Given the description of an element on the screen output the (x, y) to click on. 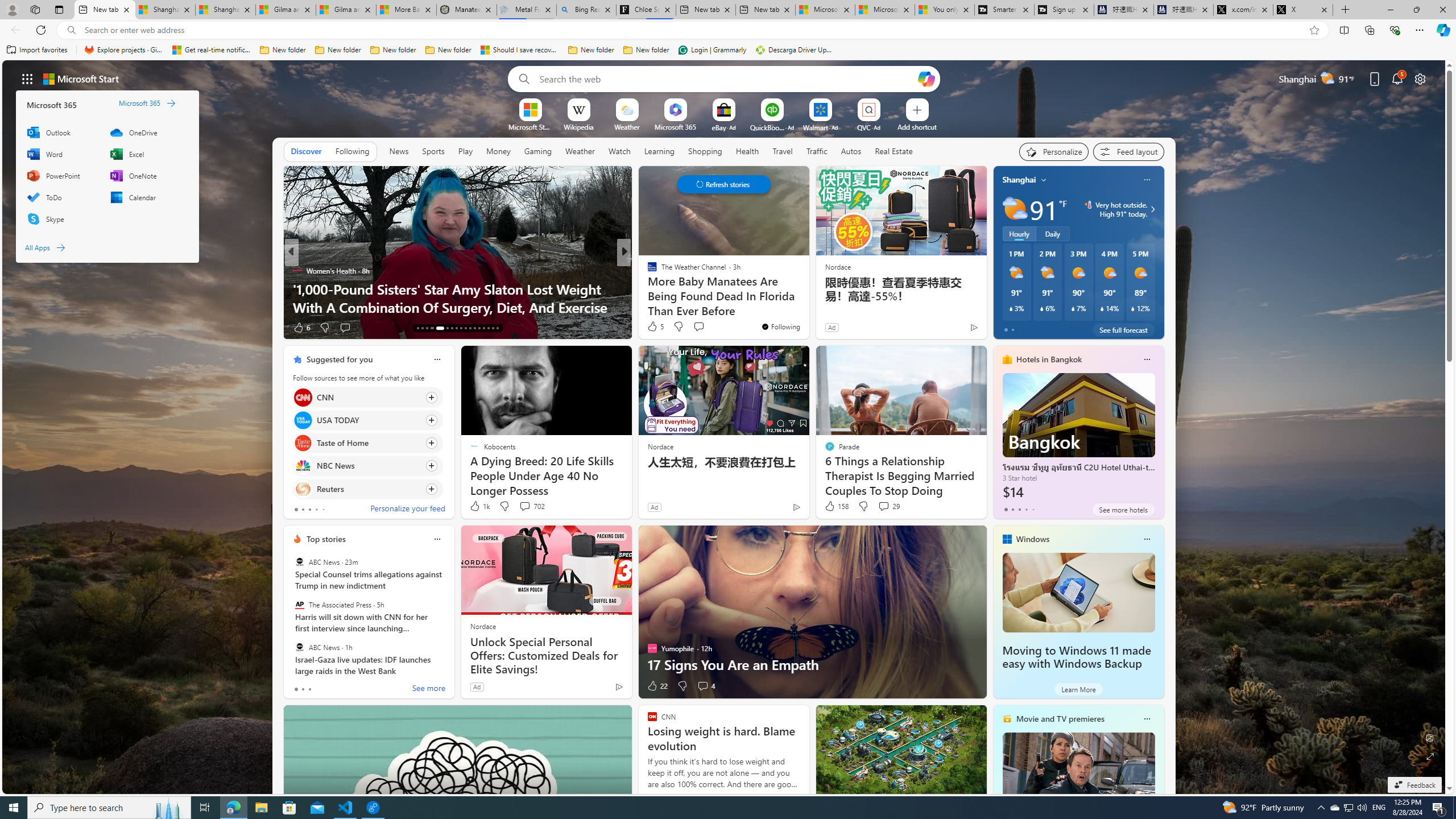
22 Like (657, 685)
Shanghai (1018, 179)
AutomationID: tab-19 (451, 328)
AutomationID: tab-24 (474, 328)
View comments 19 Comment (703, 327)
Login | Grammarly (712, 49)
Learn More (1078, 689)
AutomationID: tab-42 (497, 328)
You're following The Weather Channel (780, 326)
Should I save recovered Word documents? - Microsoft Support (519, 49)
Click to follow source NBC News (367, 465)
